Given the description of an element on the screen output the (x, y) to click on. 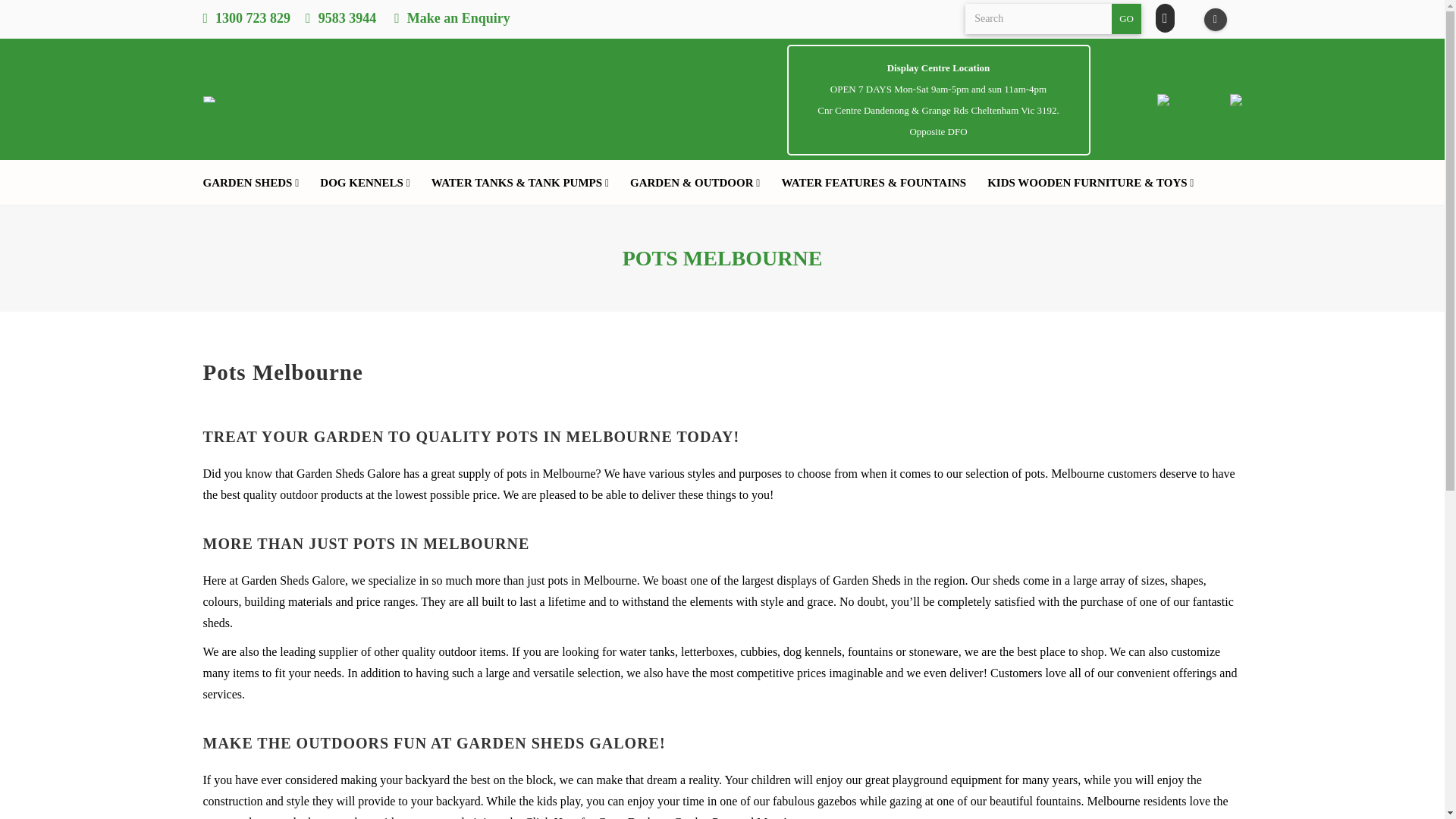
GARDEN SHEDS (256, 182)
9583 3944 (340, 17)
1300 723 829 (247, 17)
Make an Enquiry (452, 17)
GO (1126, 19)
